Given the description of an element on the screen output the (x, y) to click on. 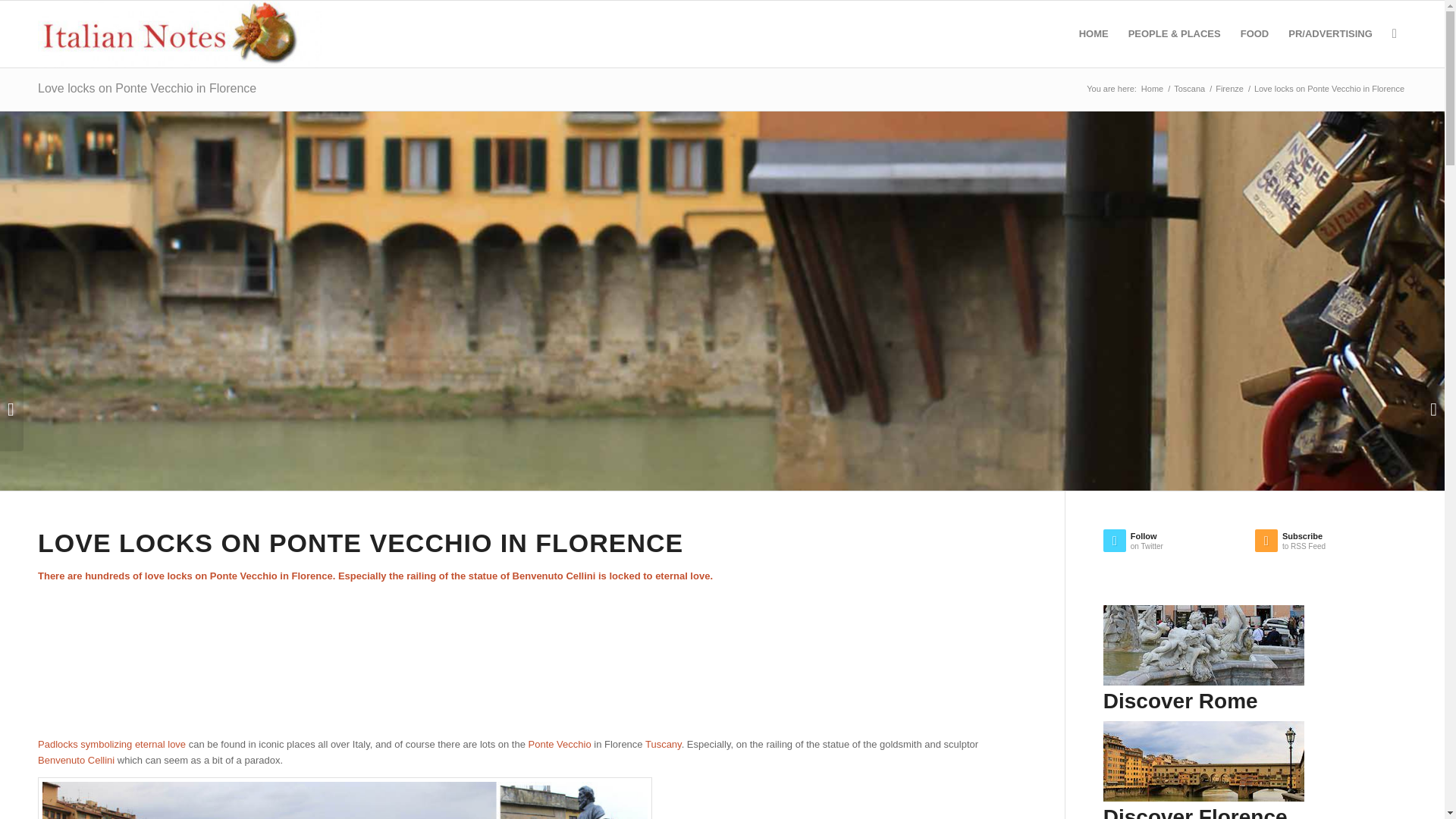
Tuscany (663, 744)
logo (179, 33)
Italian Notes (1152, 89)
Firenze (1229, 89)
Toscana (1189, 89)
Love locks on Ponte Vecchio in Florence (146, 88)
Ponte Vecchio (559, 744)
Permanent Link: Love locks on Ponte Vecchio in Florence (146, 88)
Benvenuto Cellini (76, 759)
Home (1152, 89)
